Given the description of an element on the screen output the (x, y) to click on. 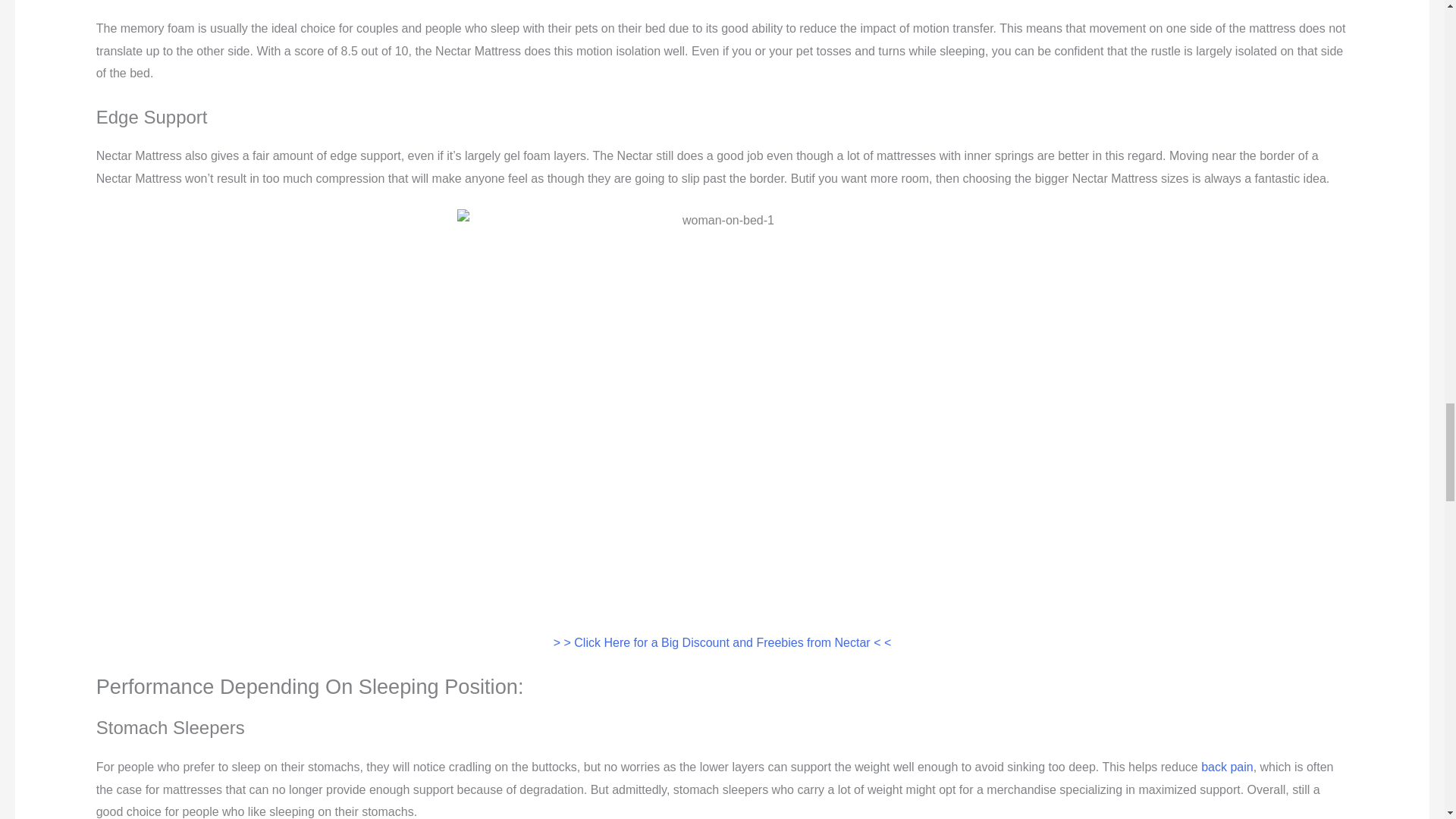
back pain (1227, 766)
